Given the description of an element on the screen output the (x, y) to click on. 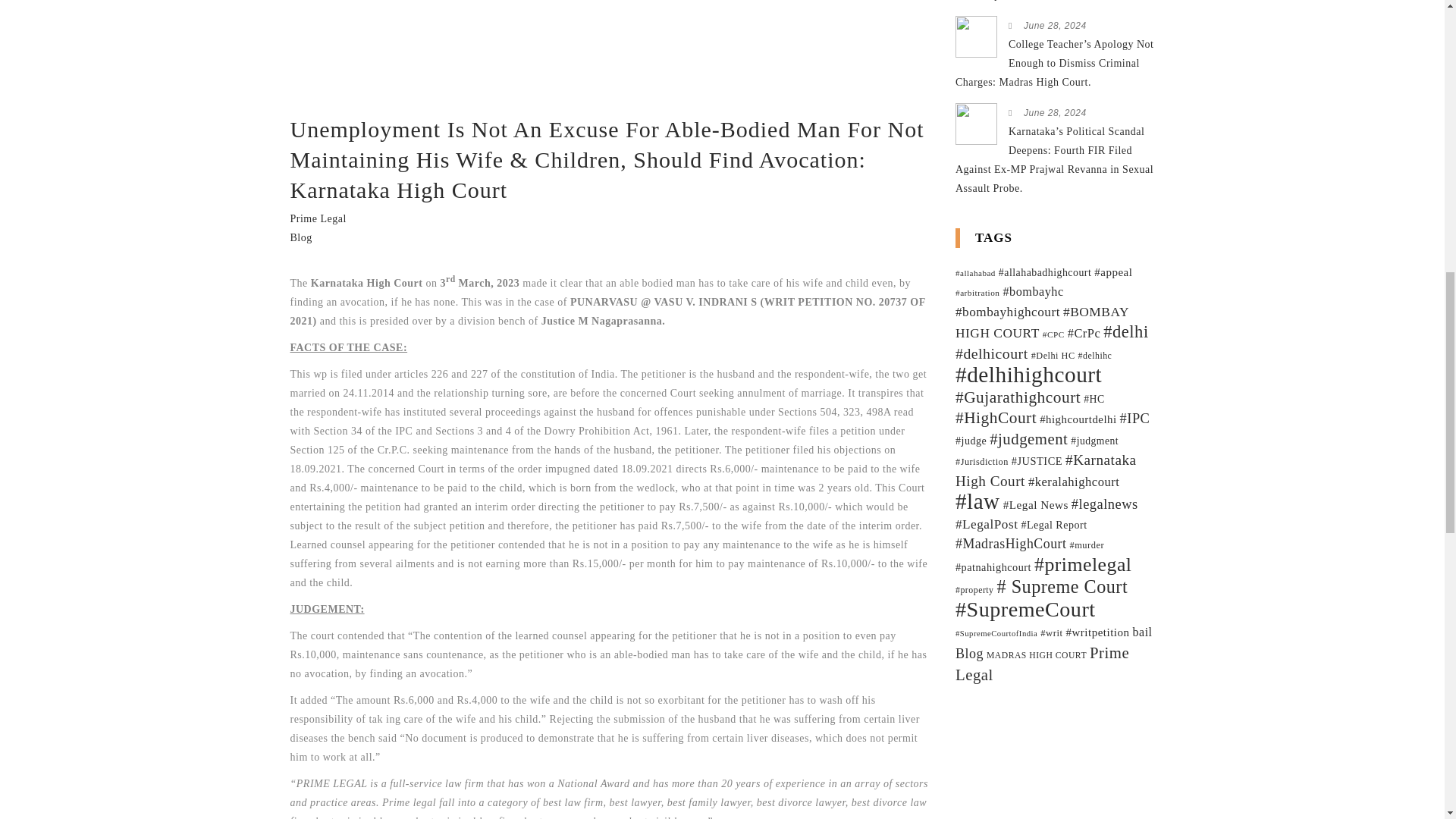
Prime Legal (317, 218)
Blog (300, 237)
View all posts by Prime Legal (317, 218)
